Given the description of an element on the screen output the (x, y) to click on. 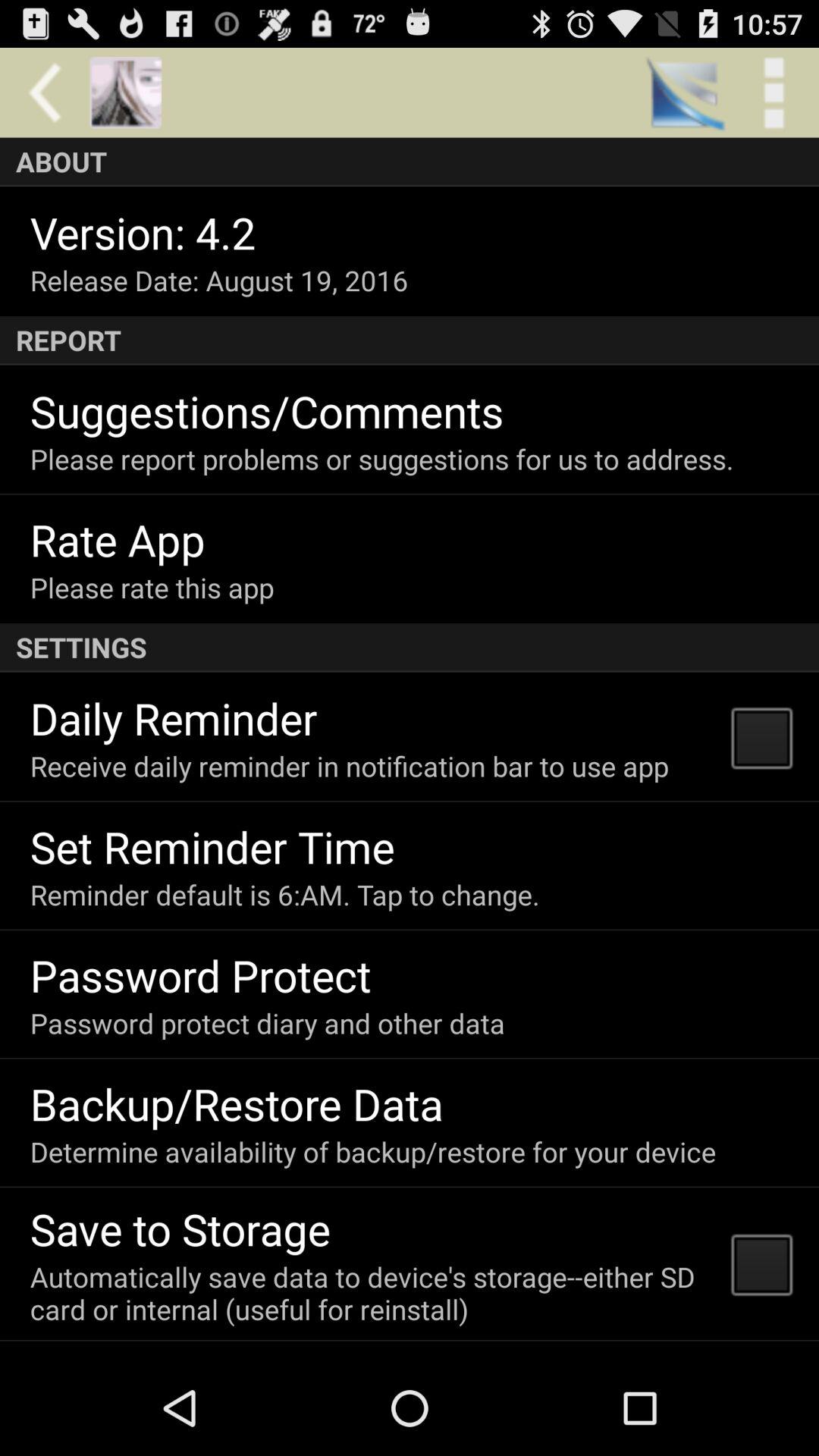
turn on the reminder default is icon (284, 894)
